Given the description of an element on the screen output the (x, y) to click on. 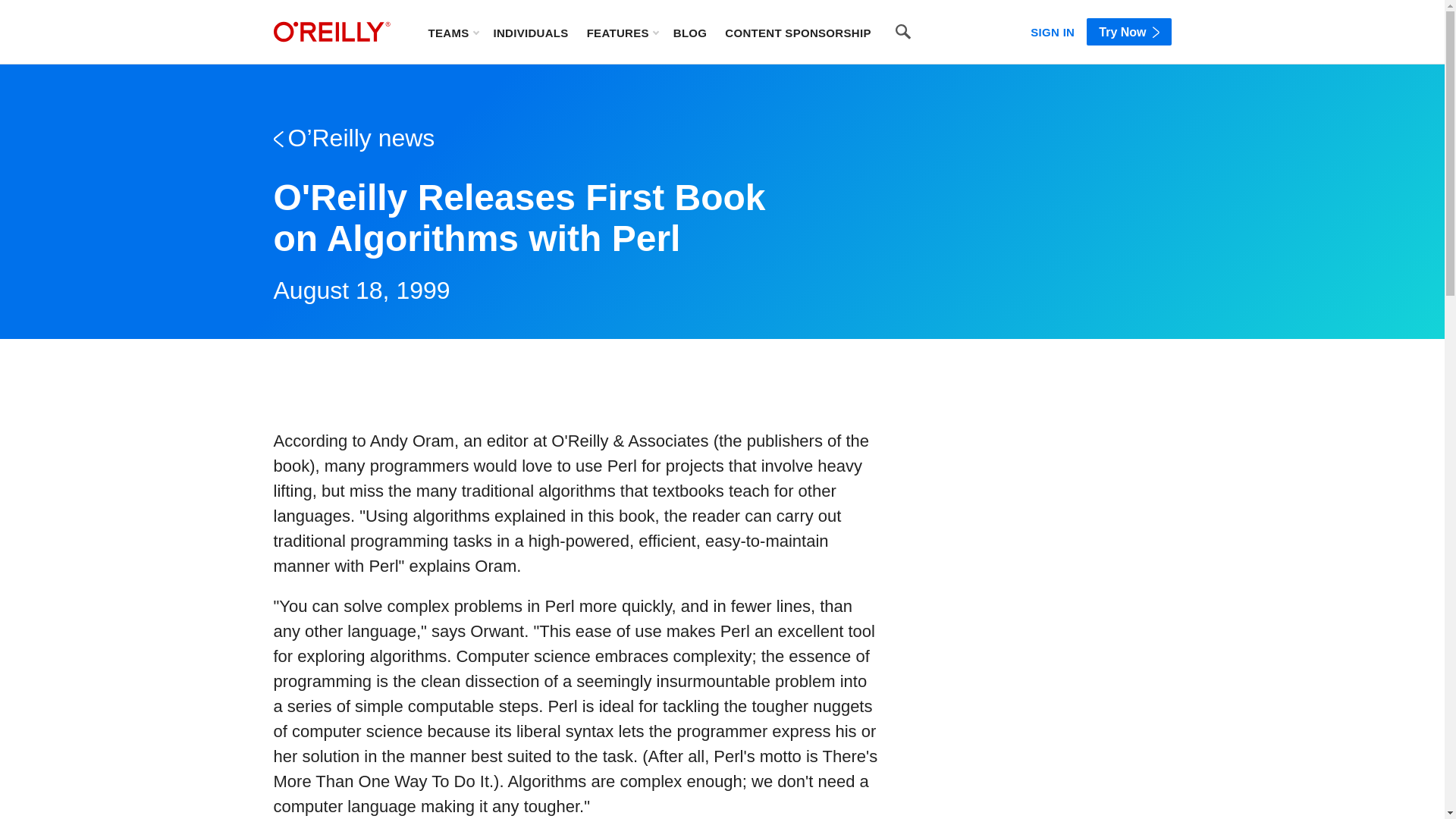
INDIVIDUALS (530, 31)
FEATURES (622, 31)
Try Now (1128, 31)
CONTENT SPONSORSHIP (797, 31)
BLOG (689, 31)
SIGN IN (1052, 29)
TEAMS (452, 31)
Search (903, 31)
home page (331, 31)
